Given the description of an element on the screen output the (x, y) to click on. 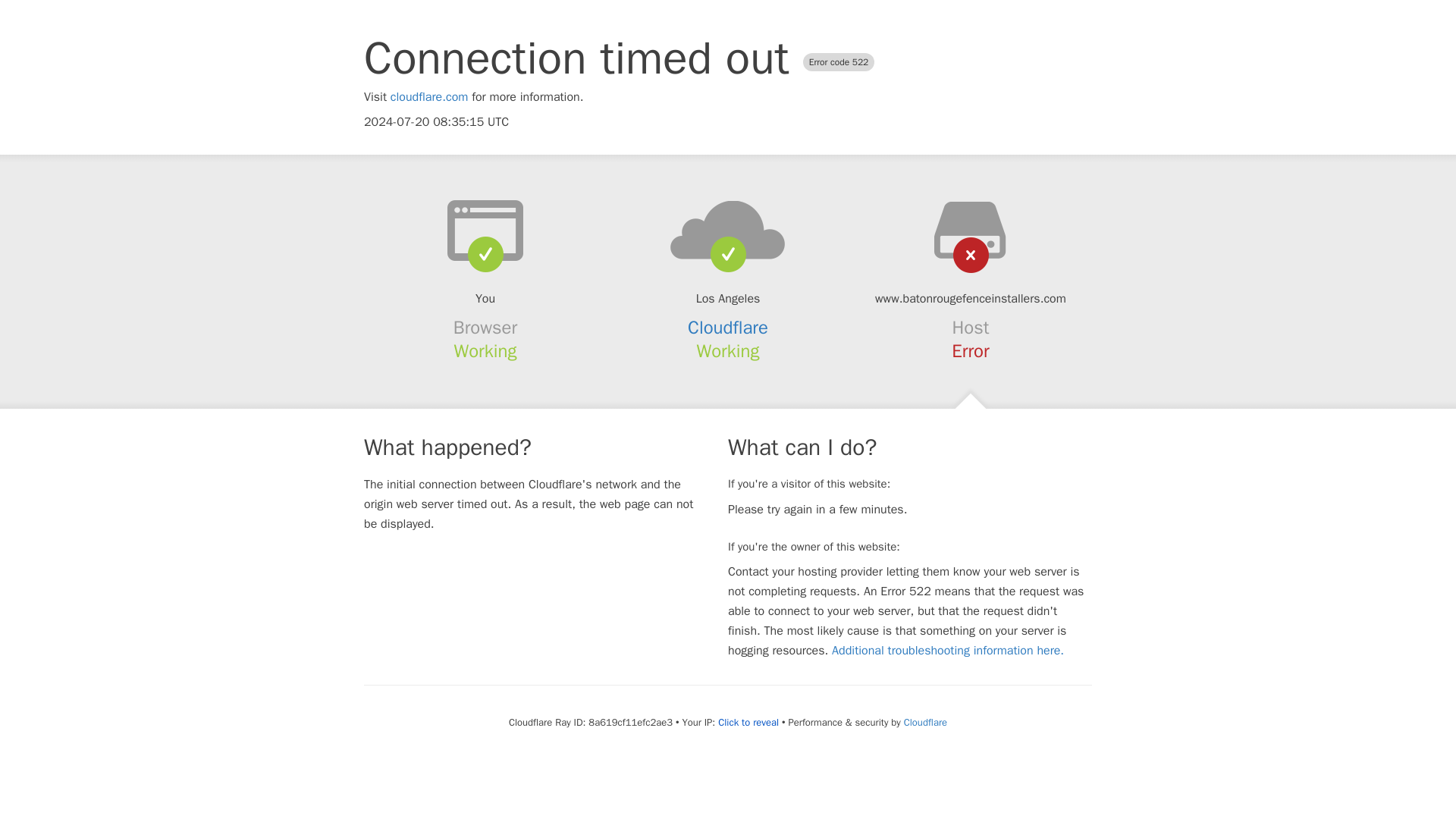
Cloudflare (925, 721)
Click to reveal (747, 722)
Additional troubleshooting information here. (947, 650)
Cloudflare (727, 327)
cloudflare.com (429, 96)
